Given the description of an element on the screen output the (x, y) to click on. 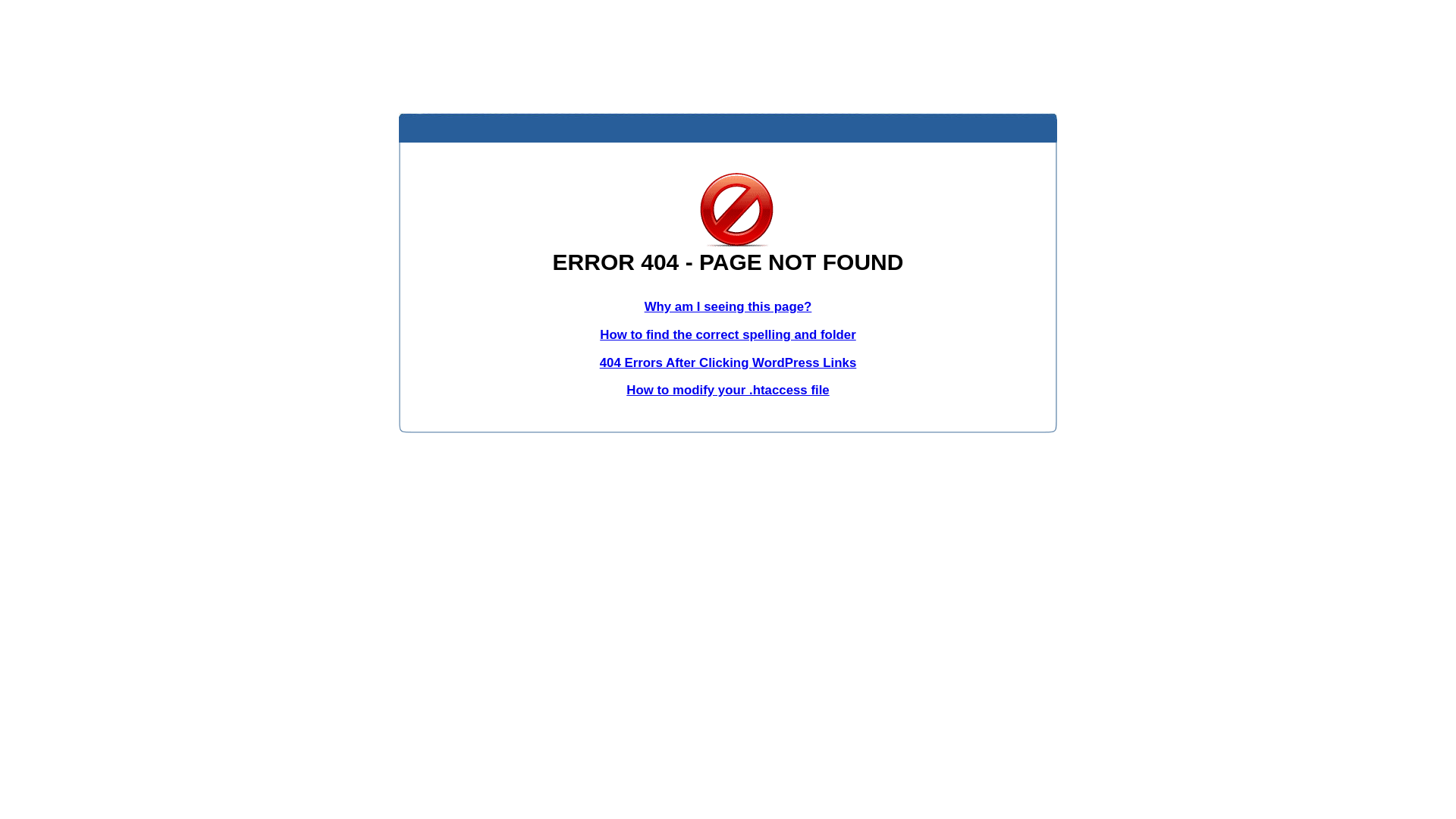
404 Errors After Clicking WordPress Links Element type: text (727, 362)
How to modify your .htaccess file Element type: text (727, 389)
How to find the correct spelling and folder Element type: text (727, 334)
Why am I seeing this page? Element type: text (728, 306)
